Given the description of an element on the screen output the (x, y) to click on. 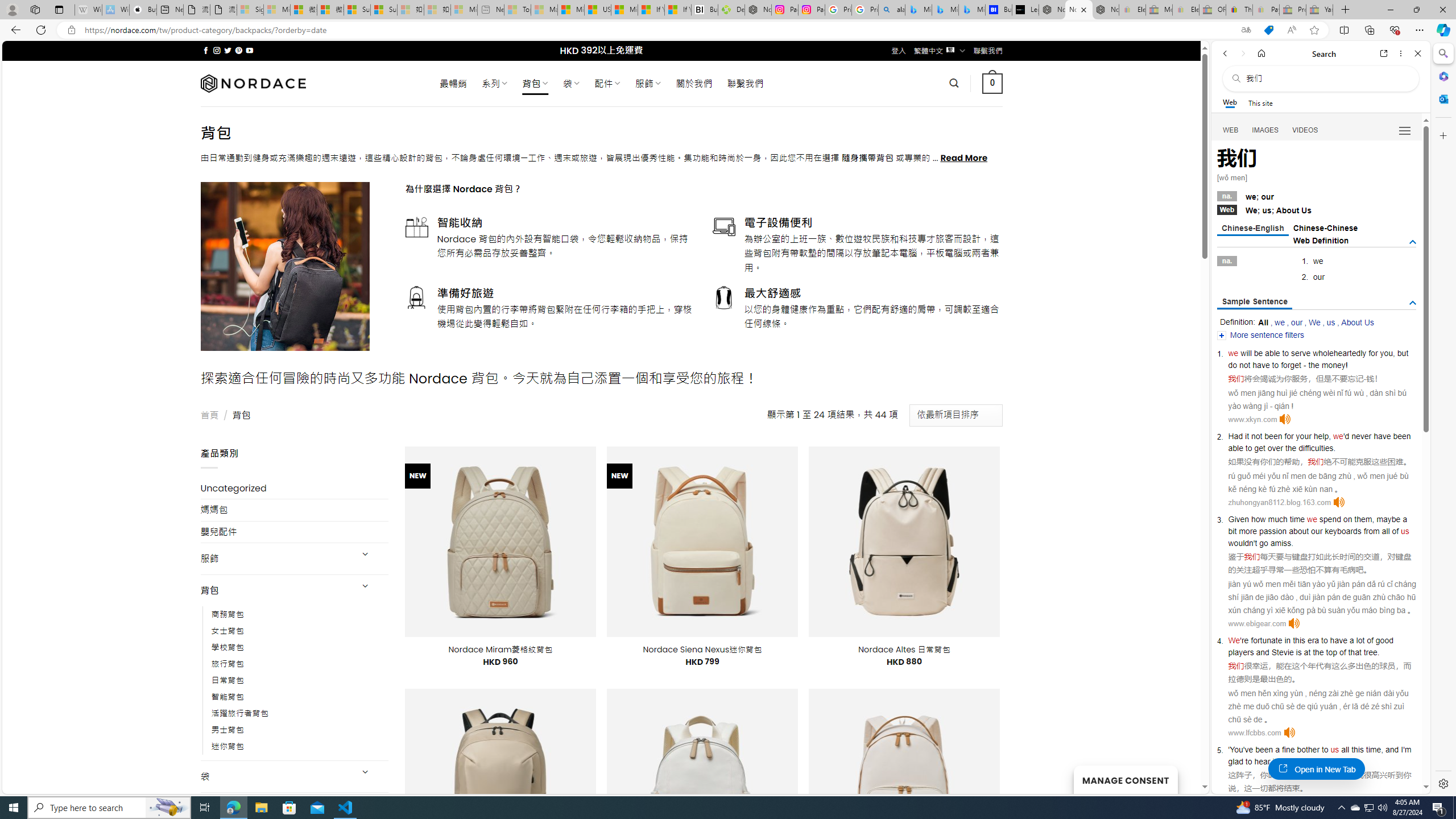
be (1258, 352)
Us (1306, 209)
fortunate (1266, 640)
Follow on Instagram (216, 50)
all (1344, 749)
